Given the description of an element on the screen output the (x, y) to click on. 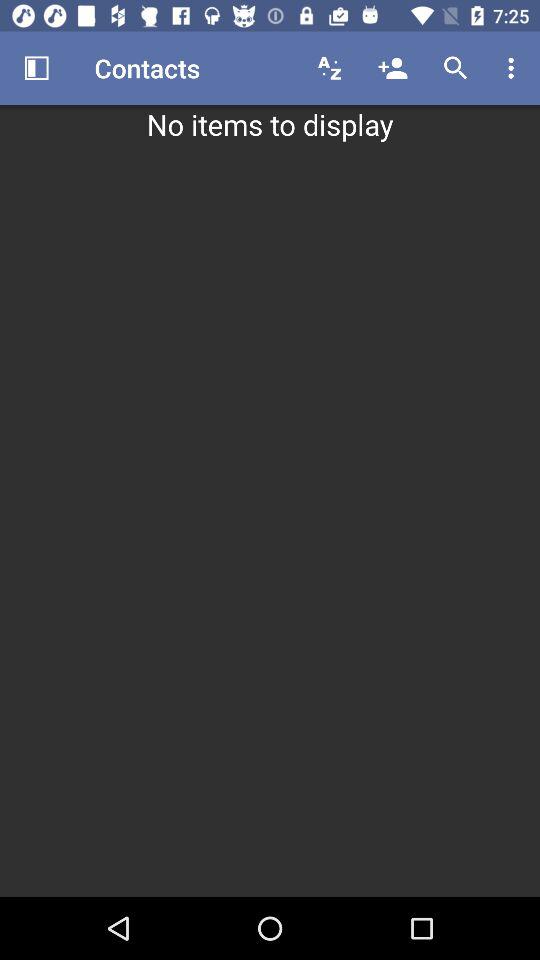
press the icon next to contacts (329, 67)
